Given the description of an element on the screen output the (x, y) to click on. 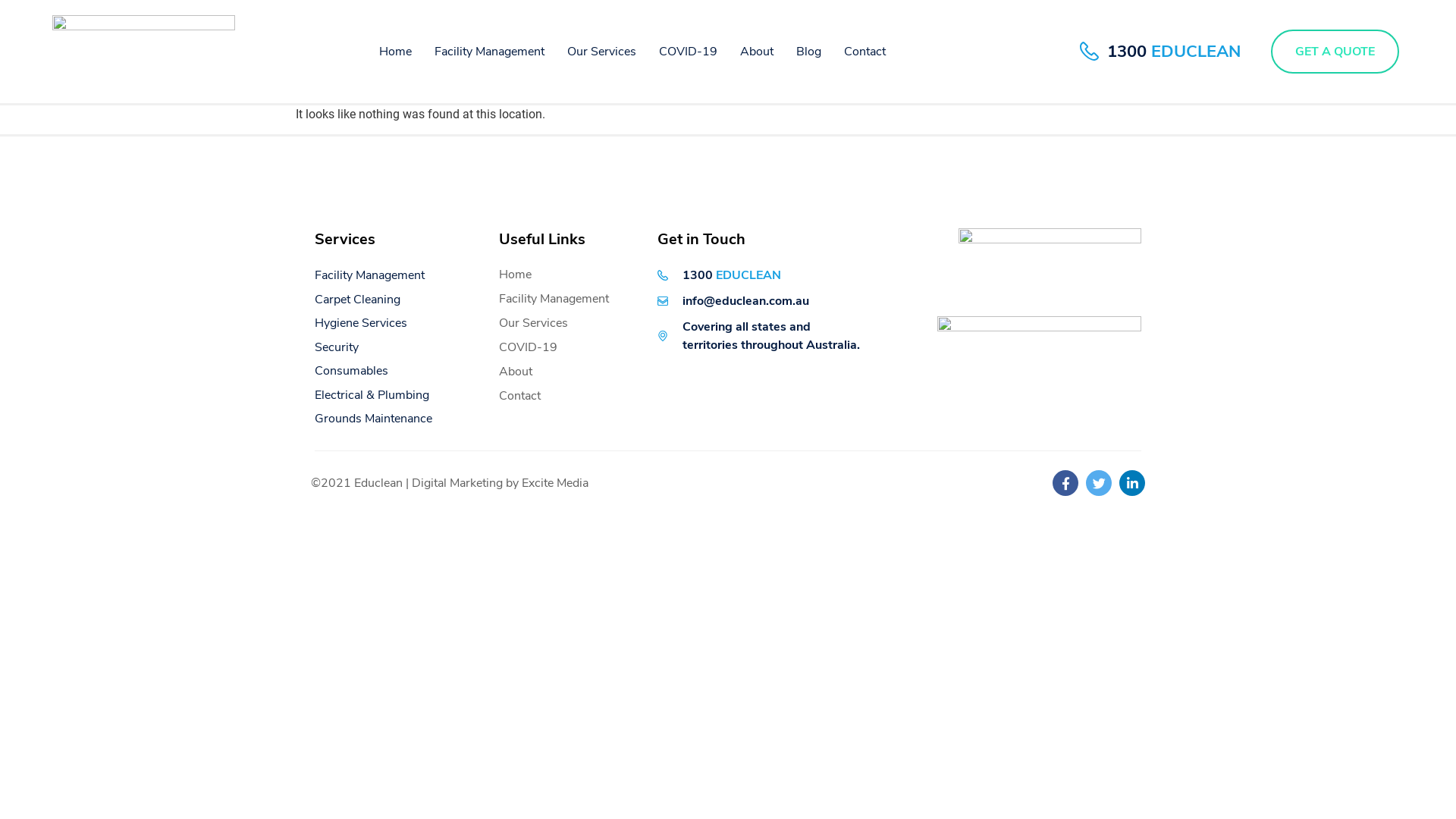
info@educlean.com.au Element type: text (733, 300)
About Element type: text (566, 371)
Contact Element type: text (566, 395)
Facility Management Element type: text (489, 51)
Home Element type: text (566, 274)
Our Services Element type: text (601, 51)
Facility Management Element type: text (566, 298)
Contact Element type: text (864, 51)
1300 EDUCLEAN Element type: text (1159, 51)
Consumables Element type: text (351, 370)
Home Element type: text (395, 51)
GET A QUOTE Element type: text (1334, 51)
COVID-19 Element type: text (687, 51)
Electrical & Plumbing Element type: text (371, 394)
About Element type: text (756, 51)
Blog Element type: text (808, 51)
1300 EDUCLEAN Element type: text (719, 275)
Facility Management Element type: text (369, 275)
Excite Media Element type: text (554, 482)
Carpet Cleaning Element type: text (357, 299)
COVID-19 Element type: text (566, 346)
Our Services Element type: text (566, 322)
Grounds Maintenance Element type: text (373, 418)
Hygiene Services Element type: text (360, 322)
Security Element type: text (336, 347)
